Given the description of an element on the screen output the (x, y) to click on. 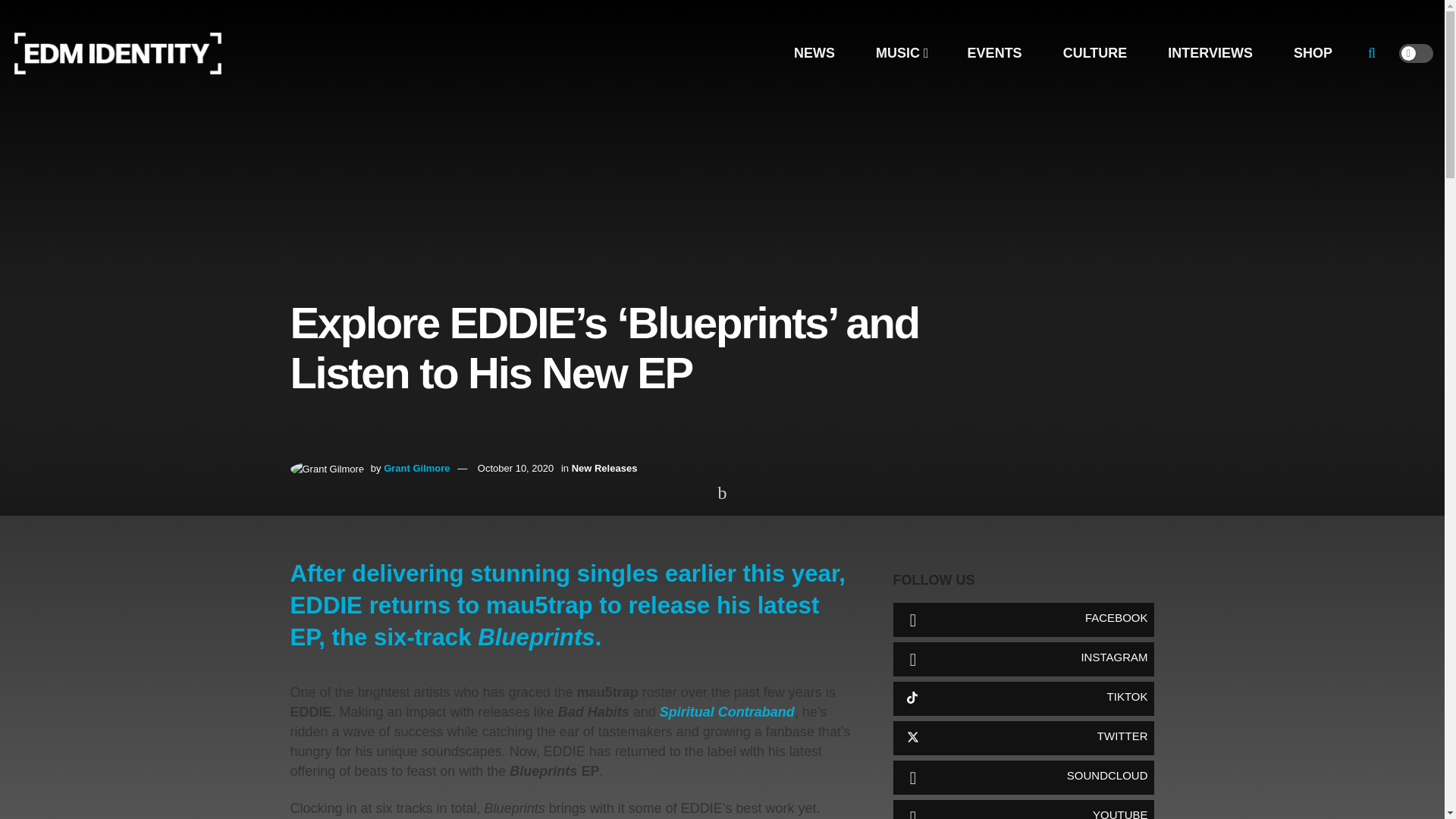
INTERVIEWS (1210, 53)
NEWS (814, 53)
Grant Gilmore (416, 468)
CULTURE (1095, 53)
MUSIC (901, 53)
October 10, 2020 (515, 468)
Spiritual Contraband (726, 711)
New Releases (604, 468)
SHOP (1312, 53)
EVENTS (994, 53)
